Given the description of an element on the screen output the (x, y) to click on. 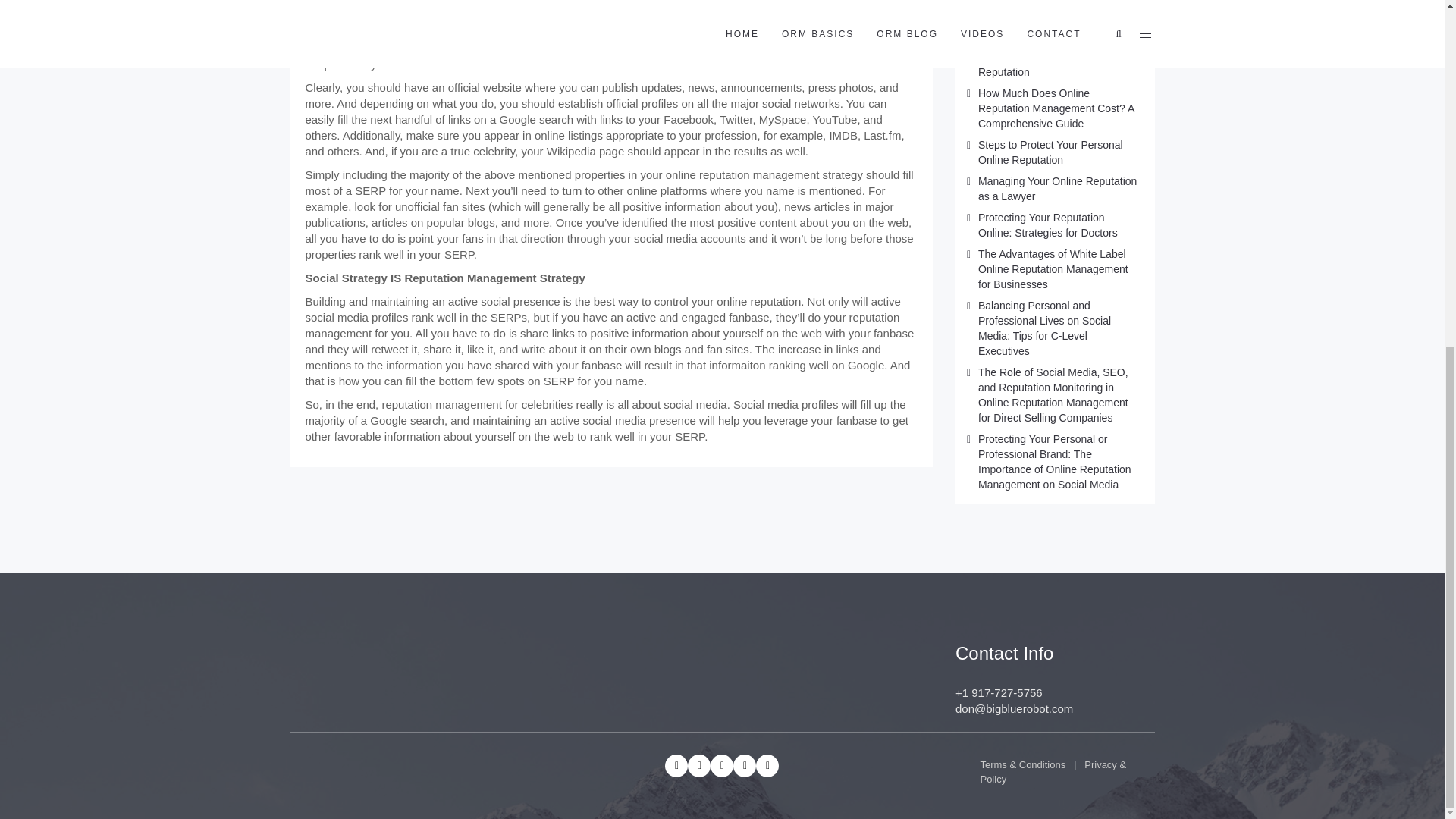
Protecting Your Reputation Online: Strategies for Doctors (1048, 225)
Steps to Protect Your Personal Online Reputation (1050, 152)
Managing Your Online Reputation as a Lawyer (1057, 188)
What is Online Reputation Management? (1040, 13)
